Given the description of an element on the screen output the (x, y) to click on. 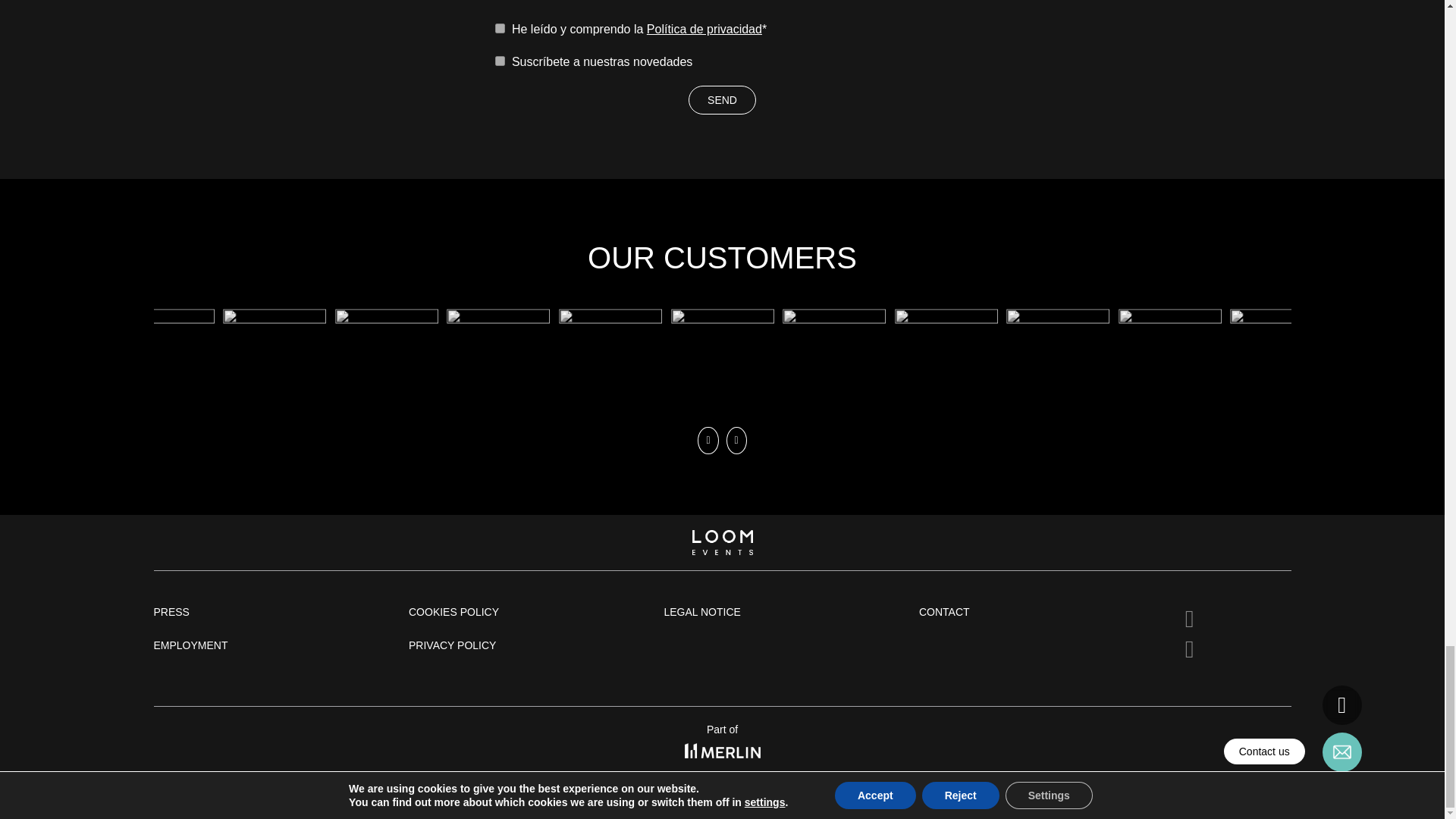
Send (721, 99)
